Given the description of an element on the screen output the (x, y) to click on. 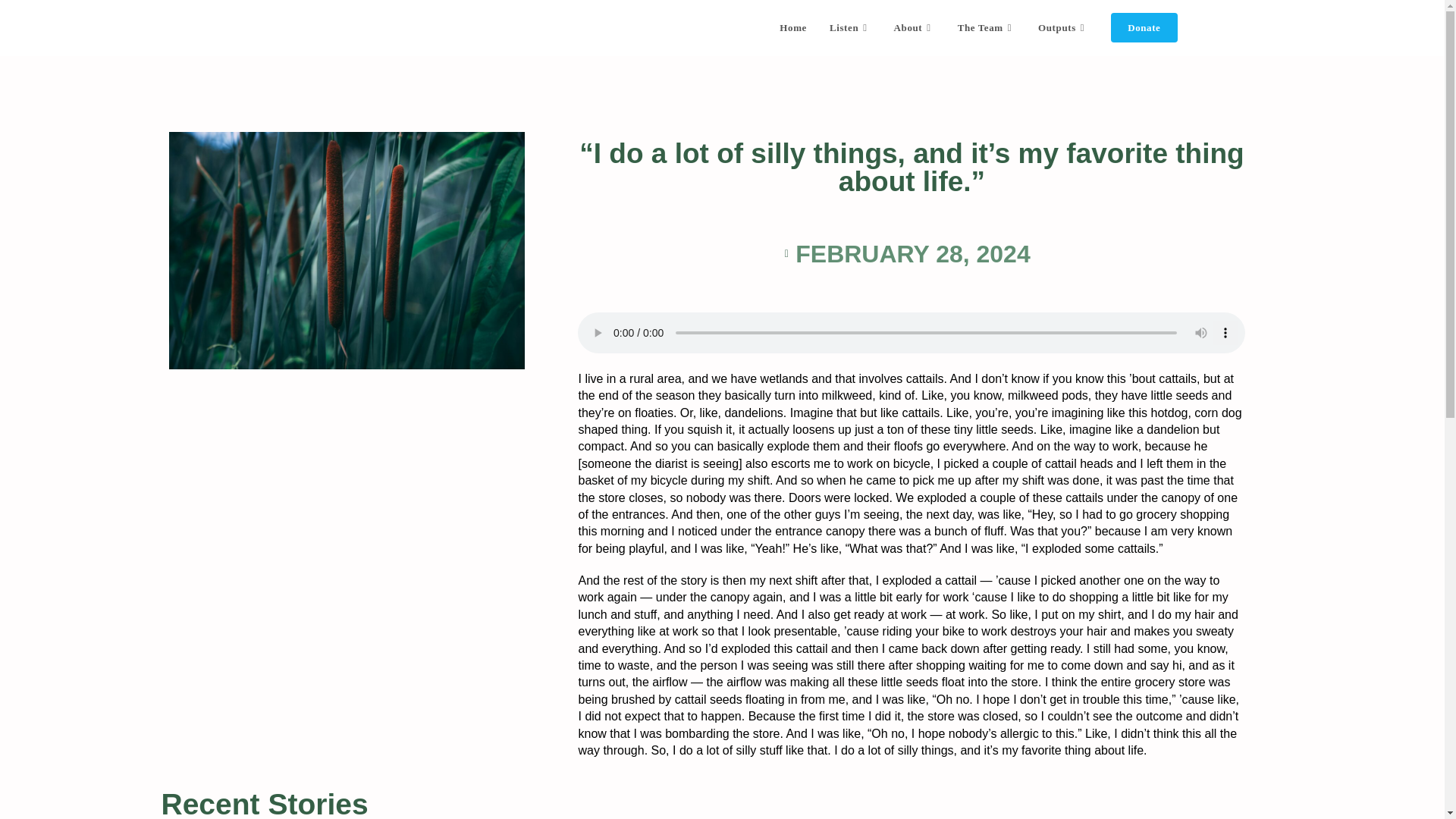
About (914, 28)
Listen (850, 28)
Outputs (1062, 28)
Donate (1143, 28)
The Team (986, 28)
Home (793, 28)
